Given the description of an element on the screen output the (x, y) to click on. 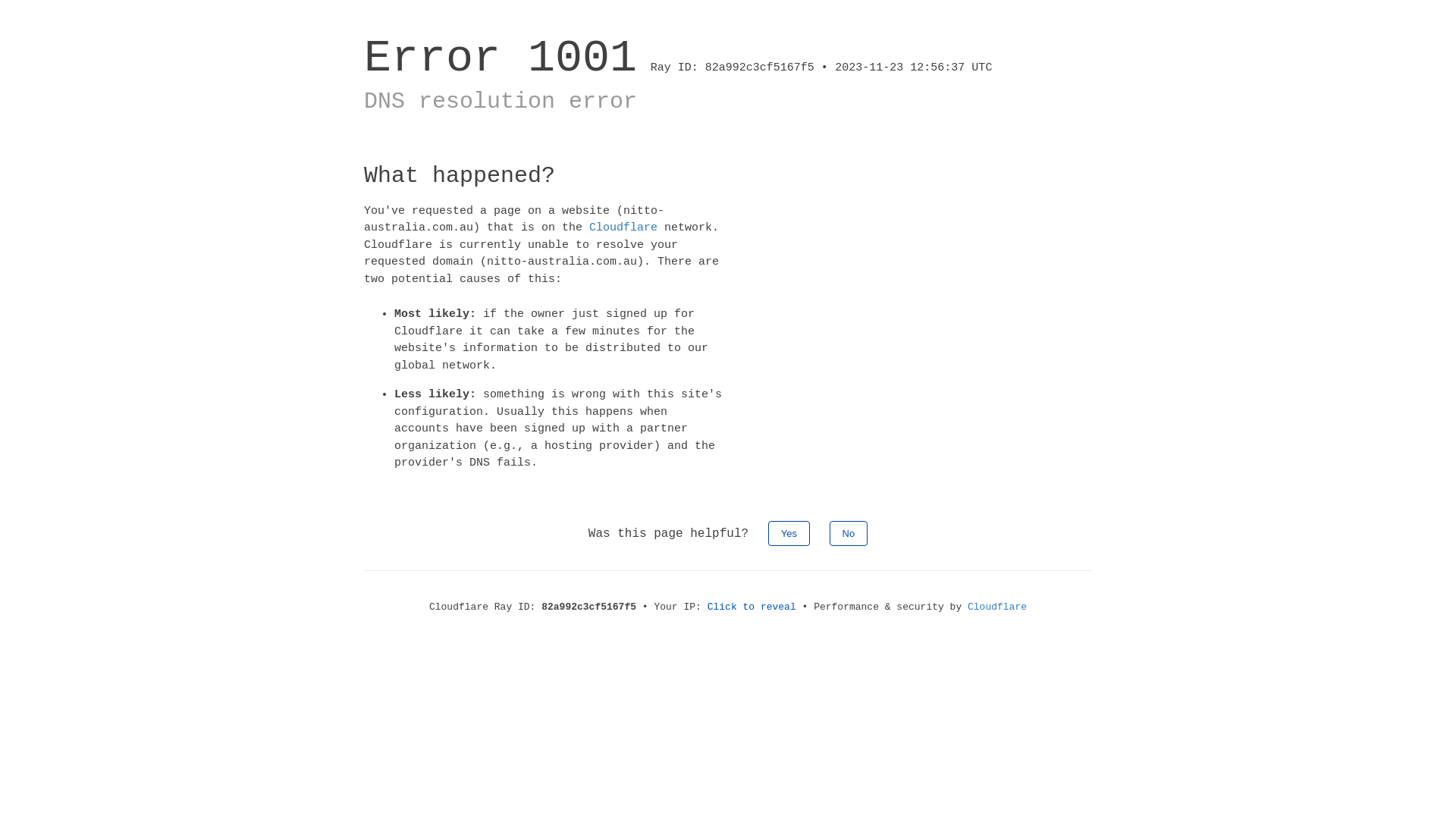
Click to reveal Element type: text (751, 605)
No Element type: text (848, 532)
Yes Element type: text (788, 532)
Cloudflare Element type: text (623, 227)
Cloudflare Element type: text (996, 605)
